Given the description of an element on the screen output the (x, y) to click on. 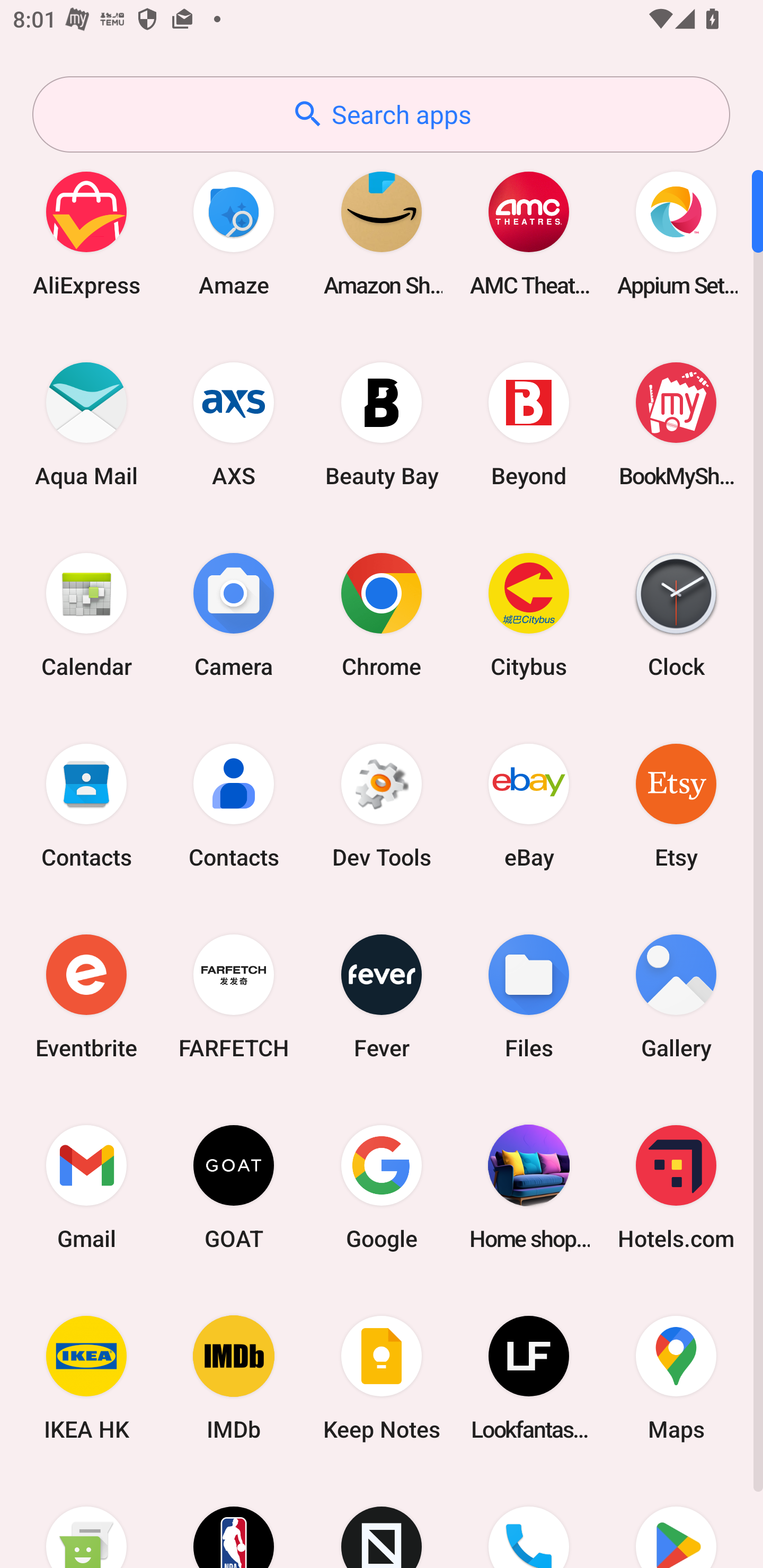
  Search apps (381, 114)
AliExpress (86, 233)
Amaze (233, 233)
Amazon Shopping (381, 233)
AMC Theatres (528, 233)
Appium Settings (676, 233)
Aqua Mail (86, 424)
AXS (233, 424)
Beauty Bay (381, 424)
Beyond (528, 424)
BookMyShow (676, 424)
Calendar (86, 614)
Camera (233, 614)
Chrome (381, 614)
Citybus (528, 614)
Clock (676, 614)
Contacts (86, 805)
Contacts (233, 805)
Dev Tools (381, 805)
eBay (528, 805)
Etsy (676, 805)
Eventbrite (86, 996)
FARFETCH (233, 996)
Fever (381, 996)
Files (528, 996)
Gallery (676, 996)
Gmail (86, 1186)
GOAT (233, 1186)
Google (381, 1186)
Home shopping (528, 1186)
Hotels.com (676, 1186)
IKEA HK (86, 1377)
IMDb (233, 1377)
Keep Notes (381, 1377)
Lookfantastic (528, 1377)
Maps (676, 1377)
Messaging (86, 1520)
NBA (233, 1520)
Novelship (381, 1520)
Phone (528, 1520)
Play Store (676, 1520)
